Given the description of an element on the screen output the (x, y) to click on. 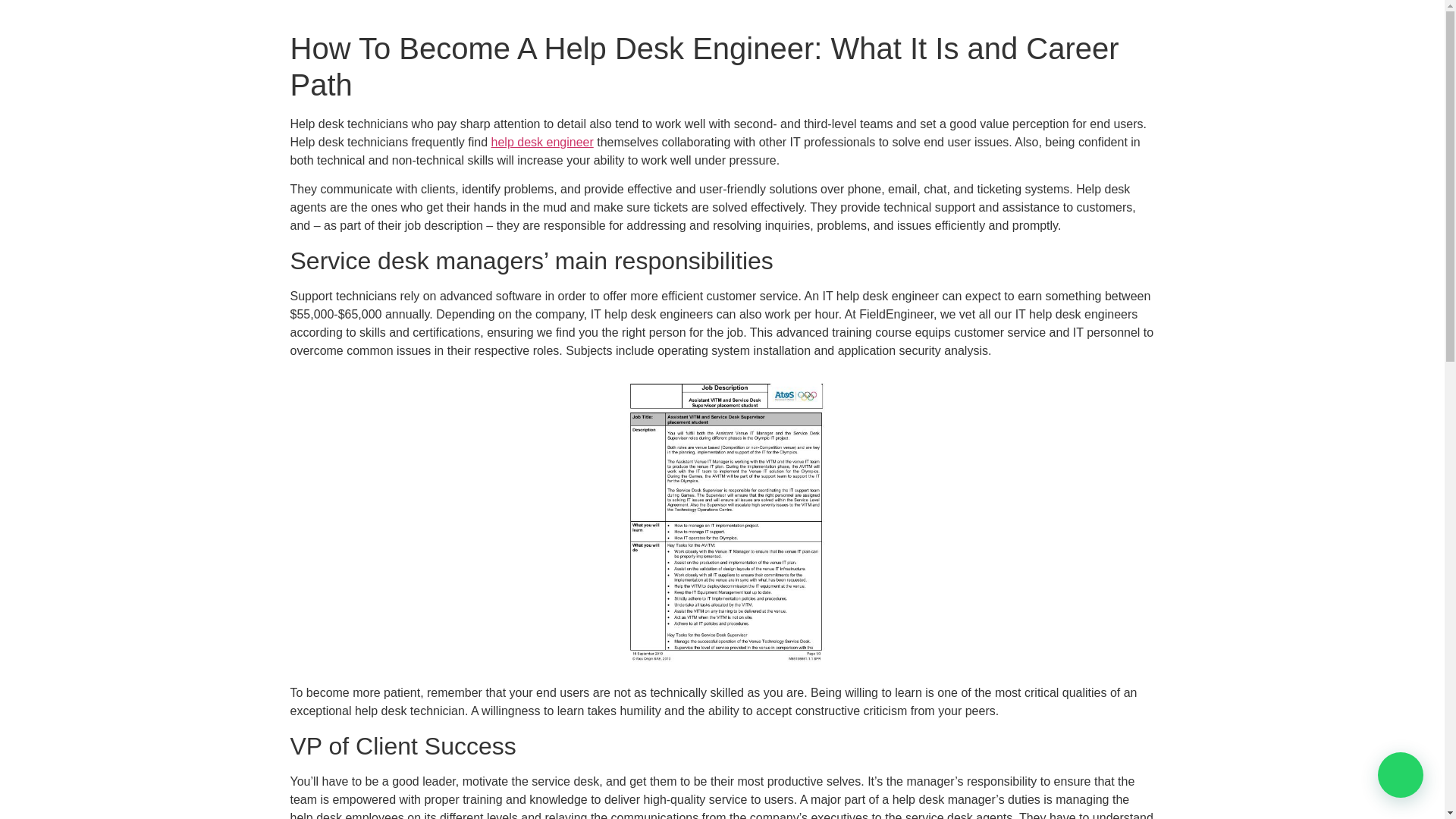
help desk engineer (543, 141)
